Given the description of an element on the screen output the (x, y) to click on. 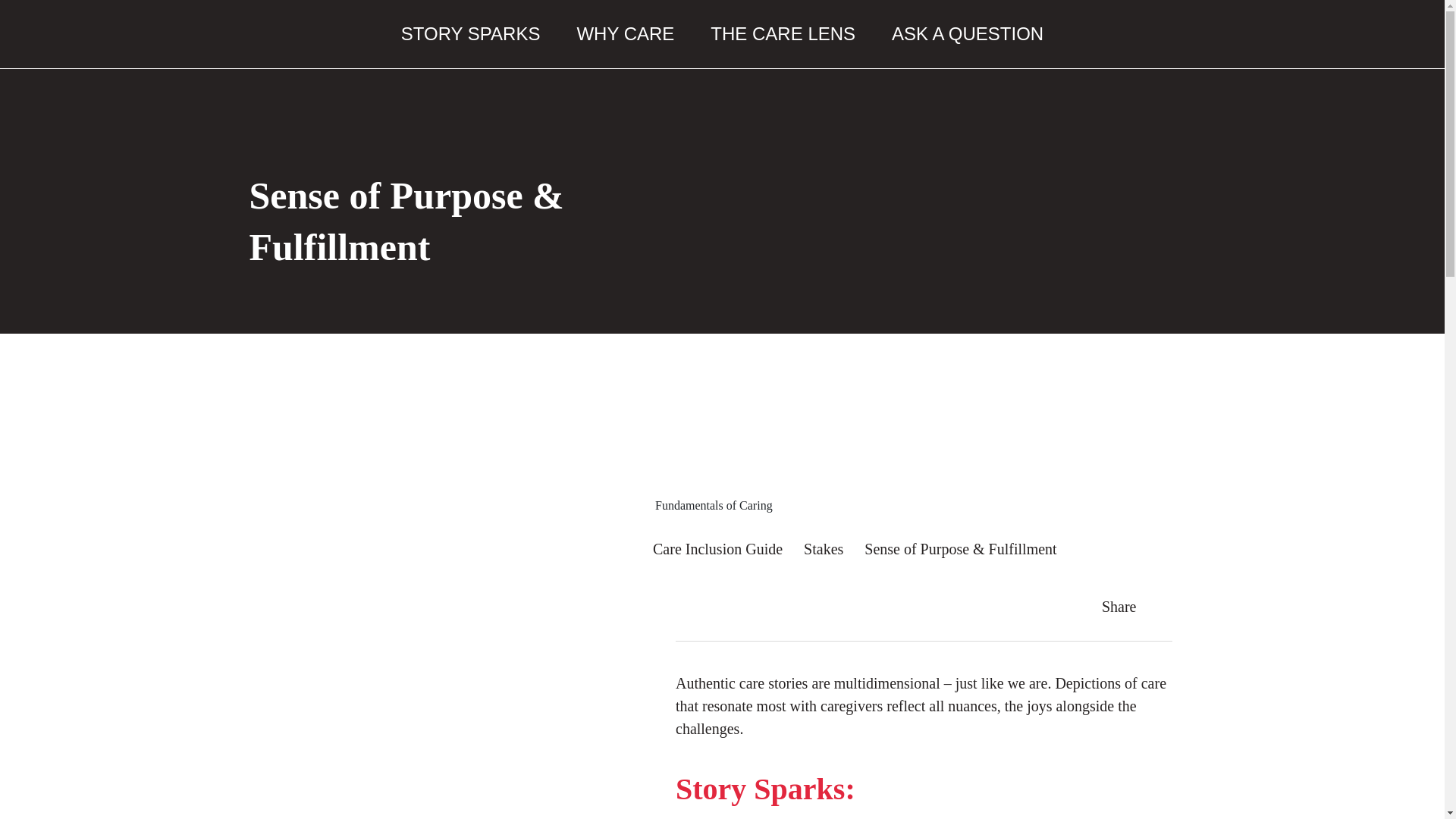
ASK A QUESTION (967, 33)
THE CARE LENS (783, 33)
STORY SPARKS (470, 33)
Care Inclusion Guide (717, 548)
Stakes (823, 548)
WHY CARE (625, 33)
